Given the description of an element on the screen output the (x, y) to click on. 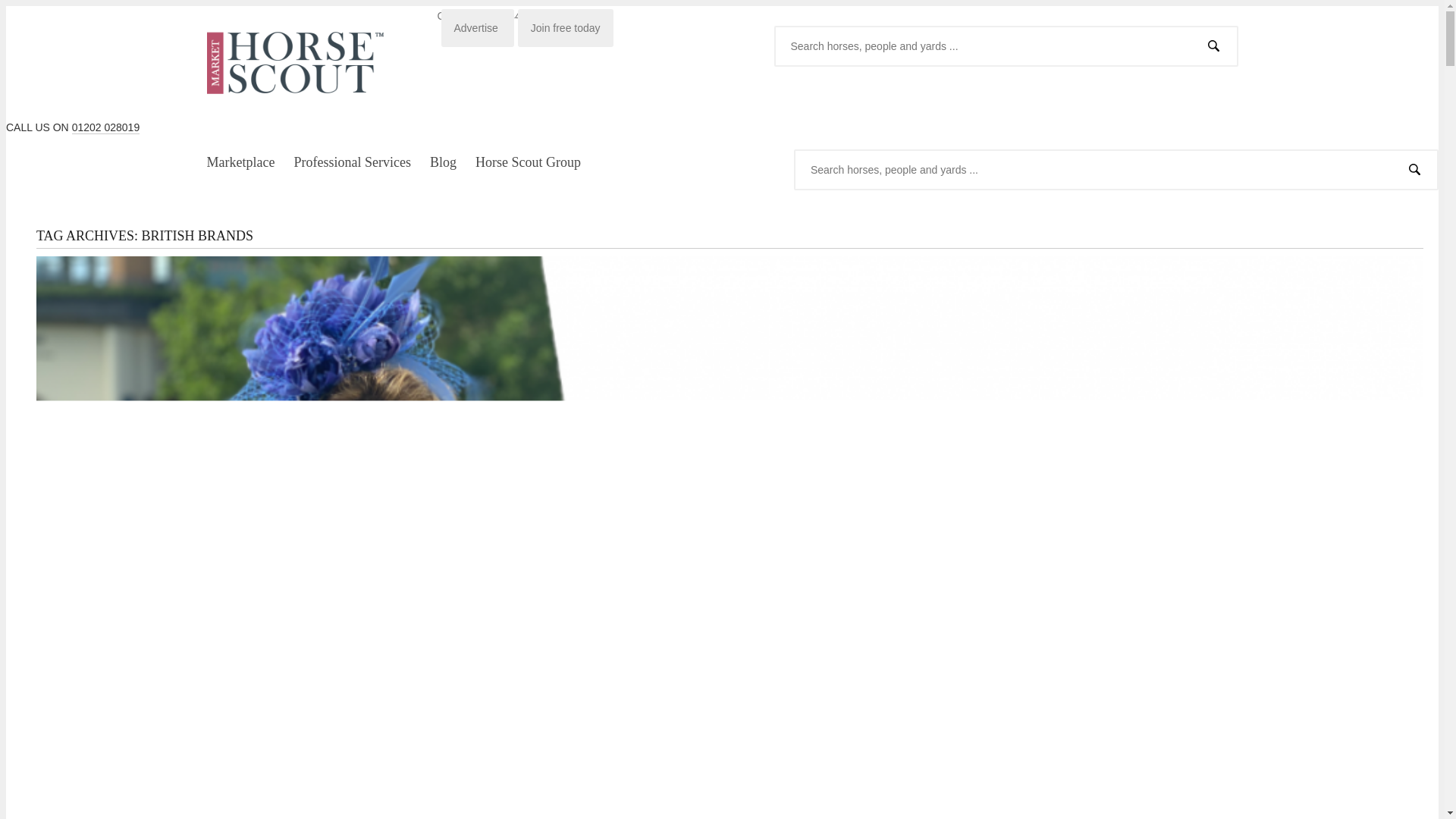
Professional Services (352, 161)
Blog (443, 161)
Advertise (477, 27)
Search (1414, 168)
Horse Scout Group (528, 161)
Join free today (565, 27)
Marketplace (240, 161)
Search (1213, 45)
01202 028019 (105, 127)
